Given the description of an element on the screen output the (x, y) to click on. 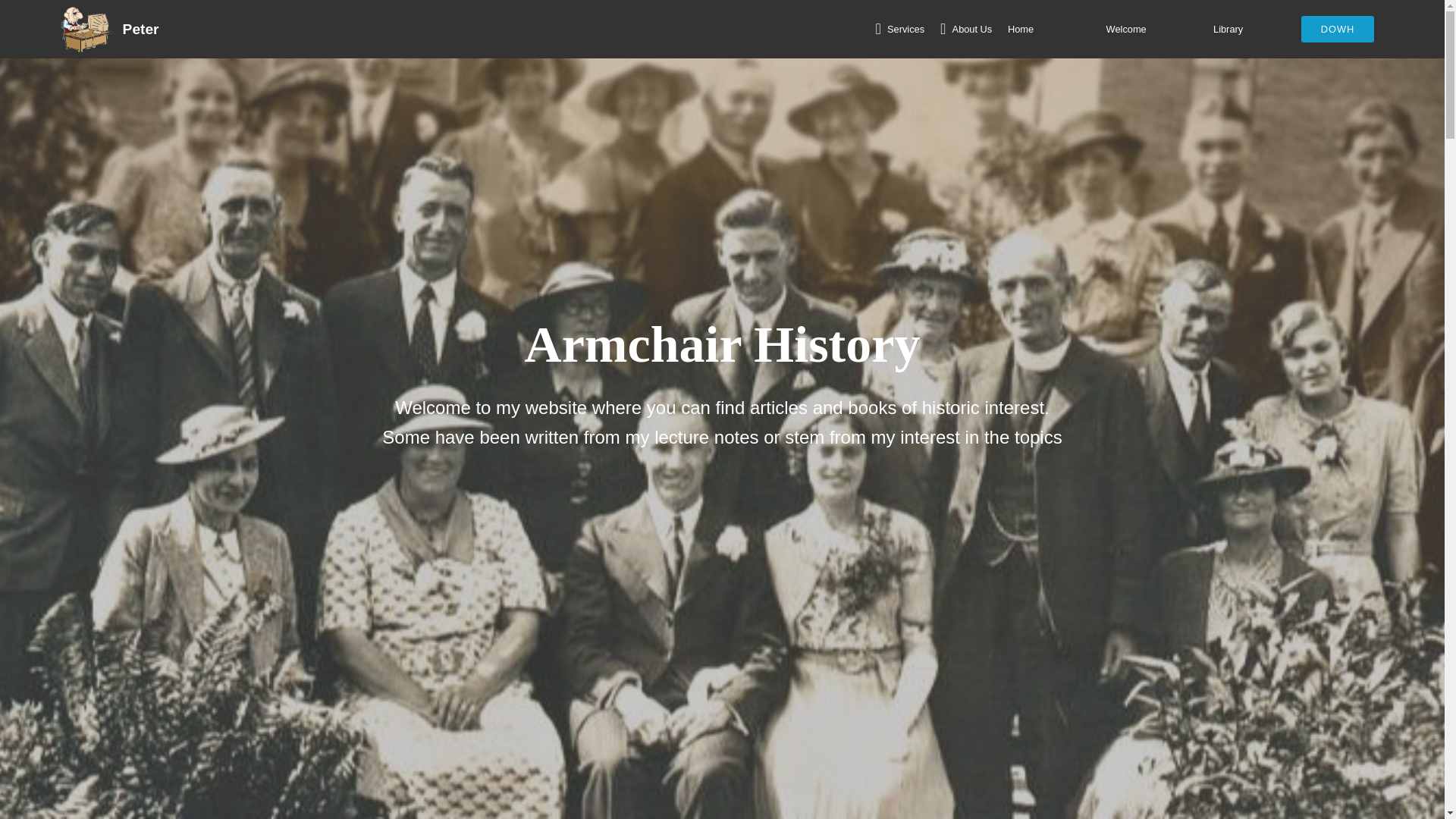
DOWH (1337, 29)
Welcome                    (1152, 29)
Home                      (1048, 29)
Library                (1247, 29)
Peter (152, 29)
Services (899, 29)
at work (87, 28)
About Us (965, 29)
